Given the description of an element on the screen output the (x, y) to click on. 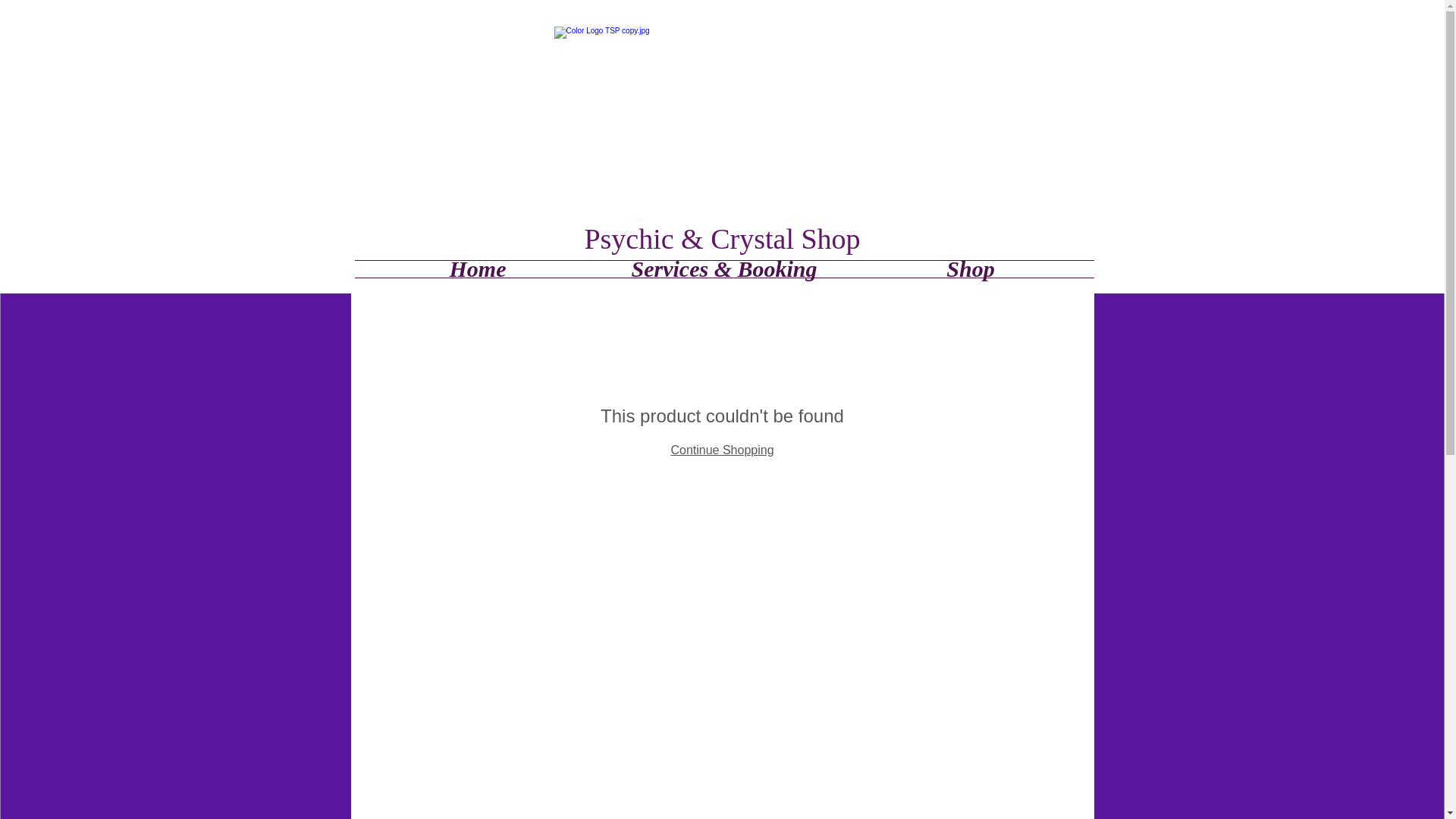
Continue Shopping (721, 449)
Home (478, 269)
Shop (970, 269)
